Given the description of an element on the screen output the (x, y) to click on. 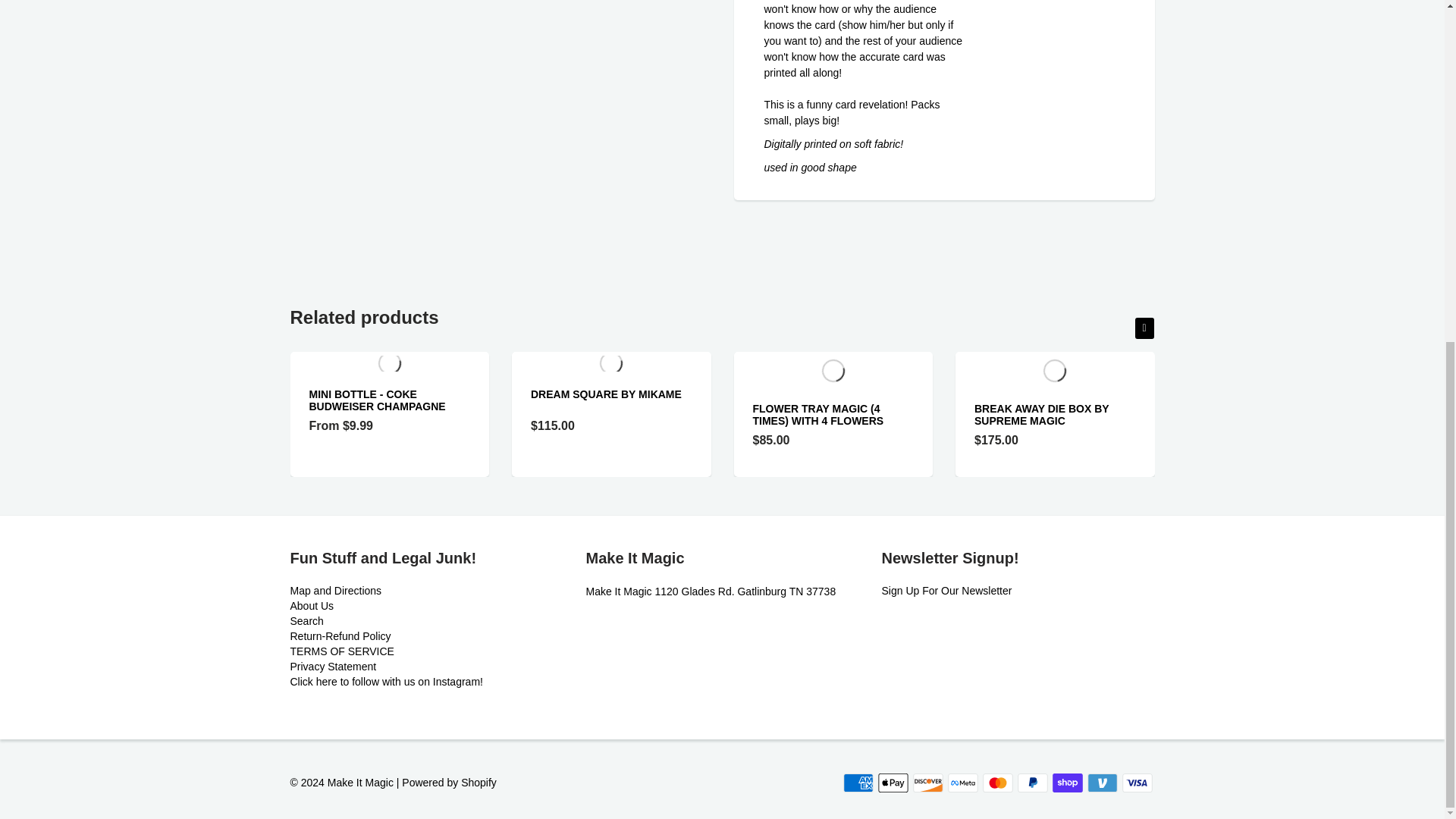
Discover (927, 782)
Apple Pay (892, 782)
Mastercard (997, 782)
Visa (1137, 782)
Shop Pay (1067, 782)
Meta Pay (962, 782)
PayPal (1032, 782)
American Express (858, 782)
Venmo (1102, 782)
